Given the description of an element on the screen output the (x, y) to click on. 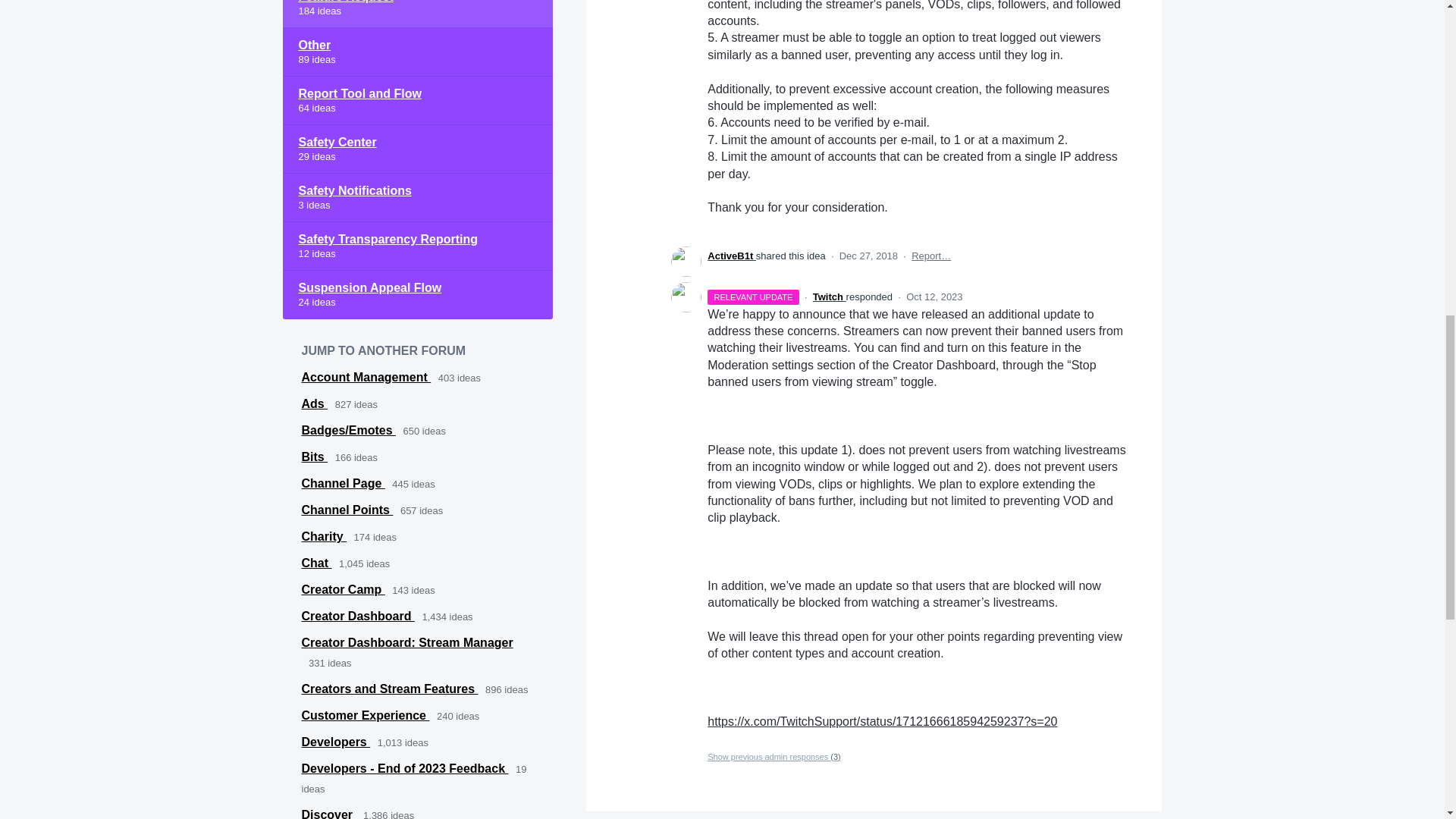
Creator Camp (343, 589)
View all ideas in category Safety Notifications (417, 197)
View all ideas in Account Management (365, 377)
Customer Experience (365, 715)
Creators and Stream Features (390, 688)
Report Tool and Flow (417, 100)
Creator Dashboard (357, 615)
View all ideas in category Feature Request (417, 13)
View all ideas in Ads (315, 403)
View all ideas in category Report Tool and Flow (417, 100)
